Given the description of an element on the screen output the (x, y) to click on. 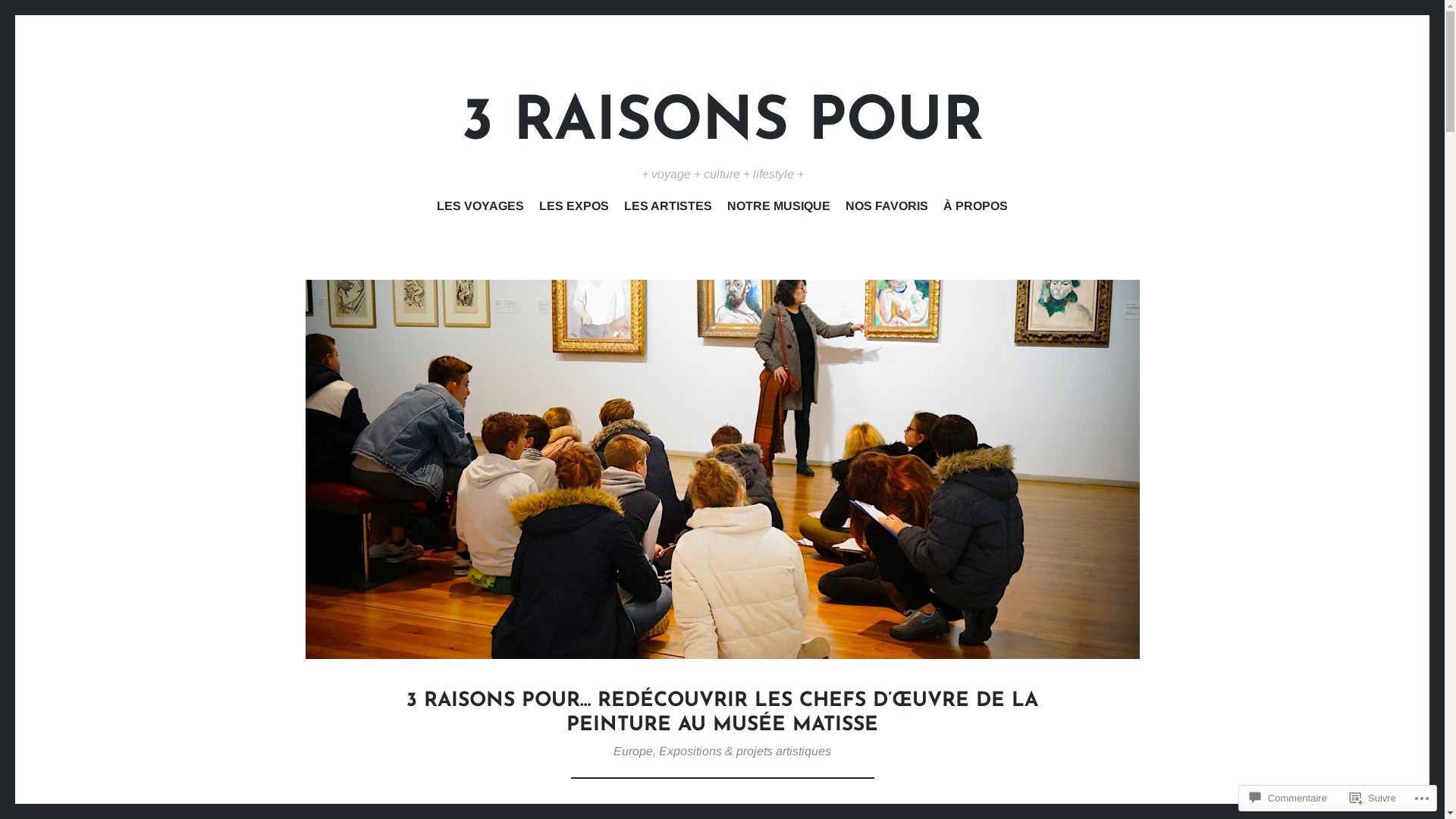
NOTRE MUSIQUE Element type: text (778, 208)
LES EXPOS Element type: text (573, 208)
3 RAISONS POUR Element type: text (721, 123)
Suivre Element type: text (1372, 797)
NOS FAVORIS Element type: text (886, 208)
Commentaire Element type: text (1288, 797)
LES VOYAGES Element type: text (480, 208)
LES ARTISTES Element type: text (668, 208)
Expositions & projets artistiques Element type: text (744, 750)
Europe Element type: text (632, 750)
